Given the description of an element on the screen output the (x, y) to click on. 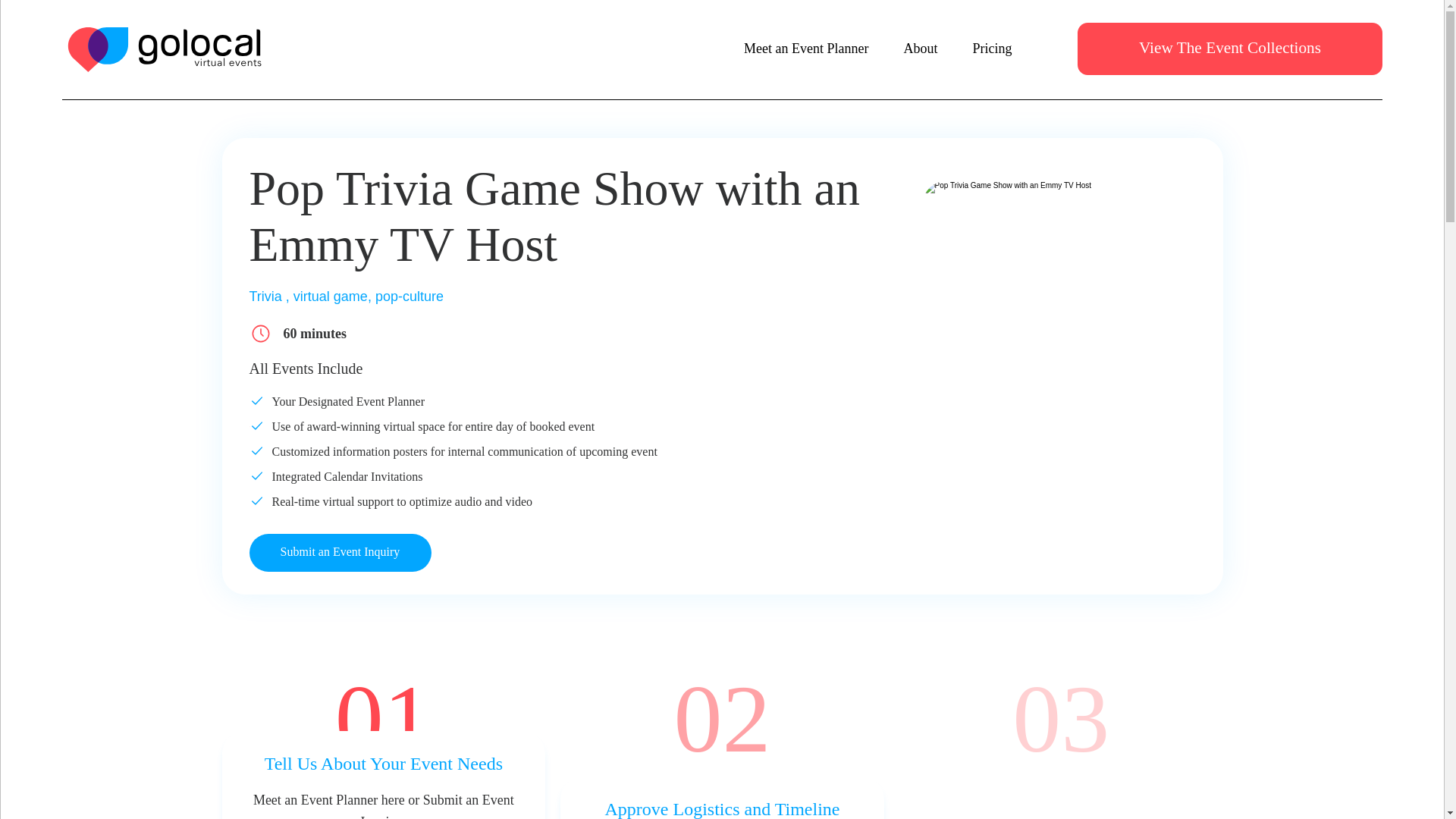
Meet an Event Planner (805, 49)
Submit an Event Inquiry (339, 552)
Pricing (991, 49)
View The Event Collections (1229, 48)
About (919, 49)
